Given the description of an element on the screen output the (x, y) to click on. 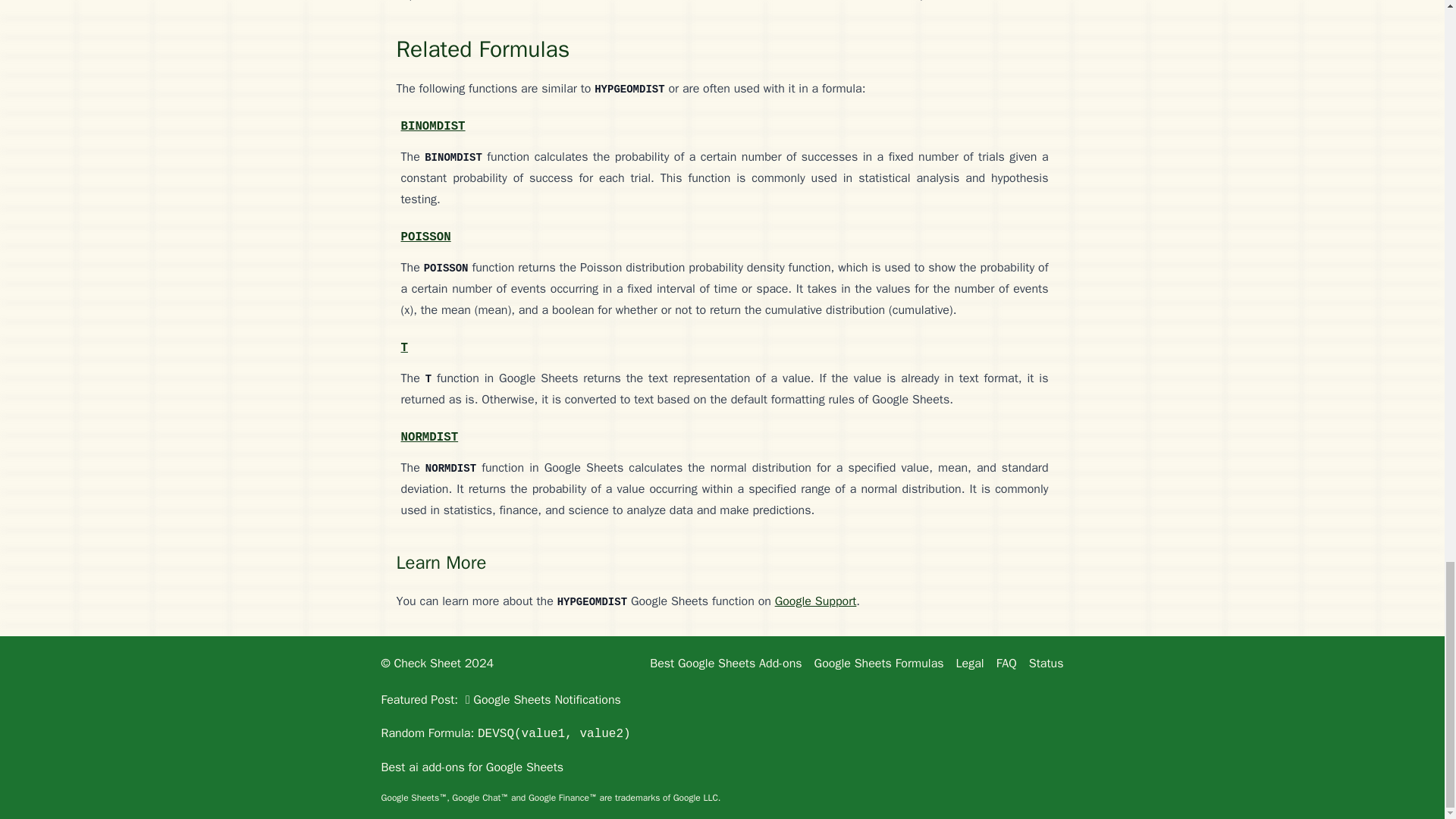
BINOMDIST (432, 125)
Learn more about the DEVSQ Google Sheets Function (505, 733)
Legal (970, 663)
Google Support (815, 601)
Status (1046, 663)
NORMDIST (429, 435)
Best ai add-ons for Google Sheets (471, 767)
Best Google Sheets Add-ons (725, 663)
Google Sheets Formulas (878, 663)
POISSON (424, 235)
FAQ (1005, 663)
